Given the description of an element on the screen output the (x, y) to click on. 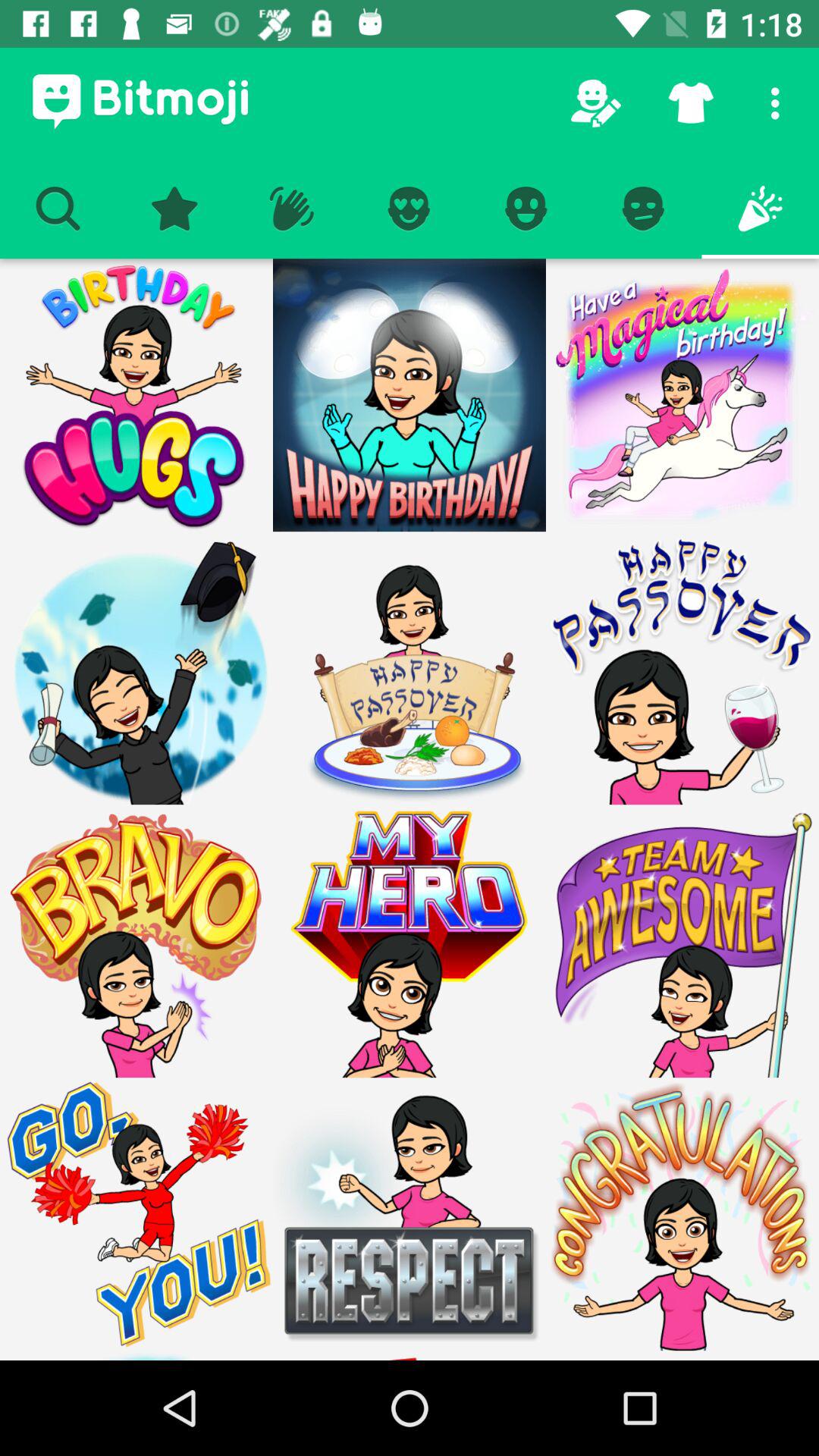
sticker image (409, 667)
